Given the description of an element on the screen output the (x, y) to click on. 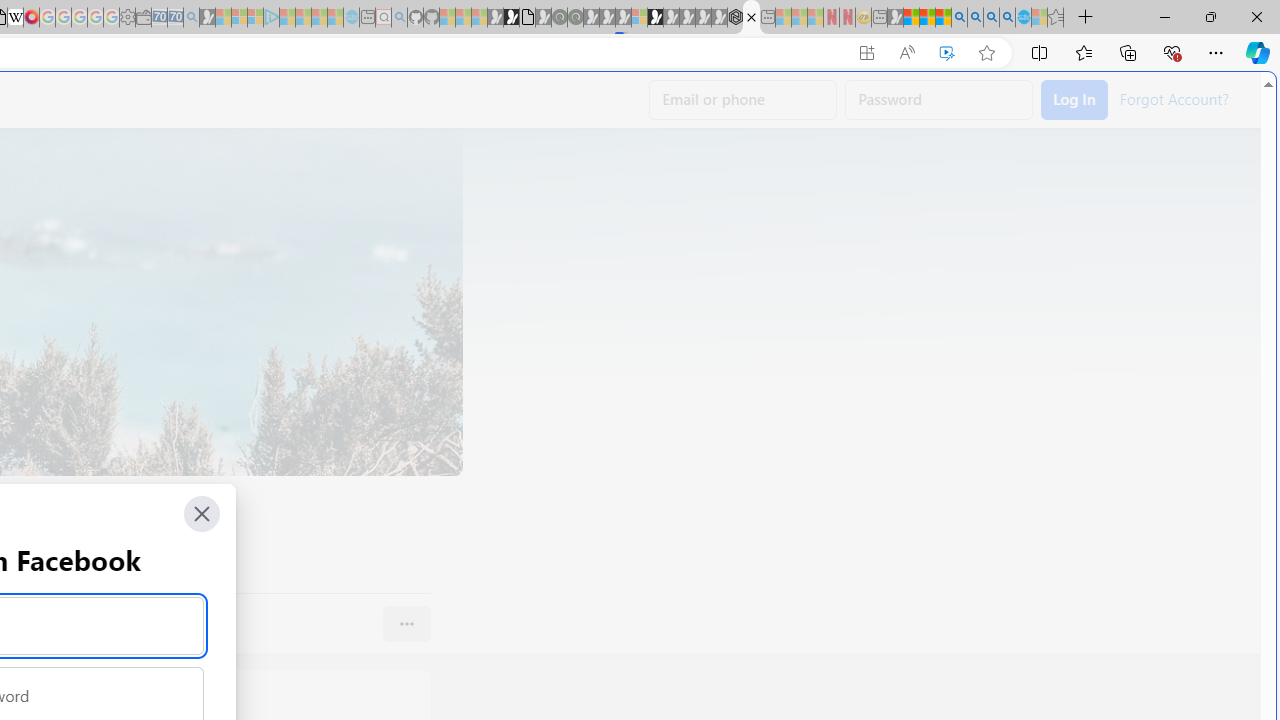
Enhance video (946, 53)
Services - Maintenance | Sky Blue Bikes - Sky Blue Bikes (1023, 17)
Nordace - Cooler Bags (735, 17)
Play Zoo Boom in your browser | Games from Microsoft Start (511, 17)
Password (939, 99)
Search or enter web address (343, 191)
